Given the description of an element on the screen output the (x, y) to click on. 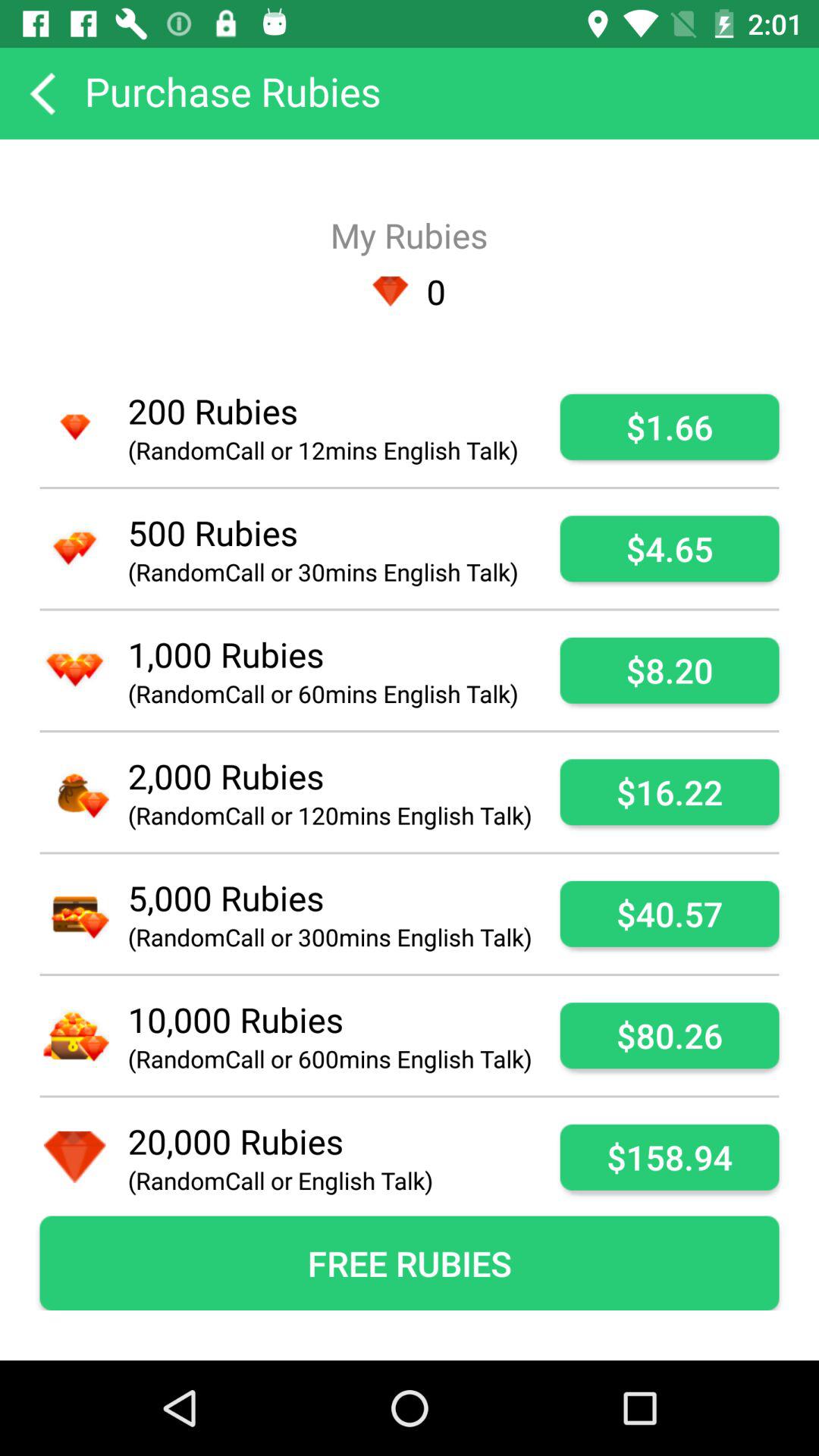
turn off the $4.65 button (669, 548)
